Given the description of an element on the screen output the (x, y) to click on. 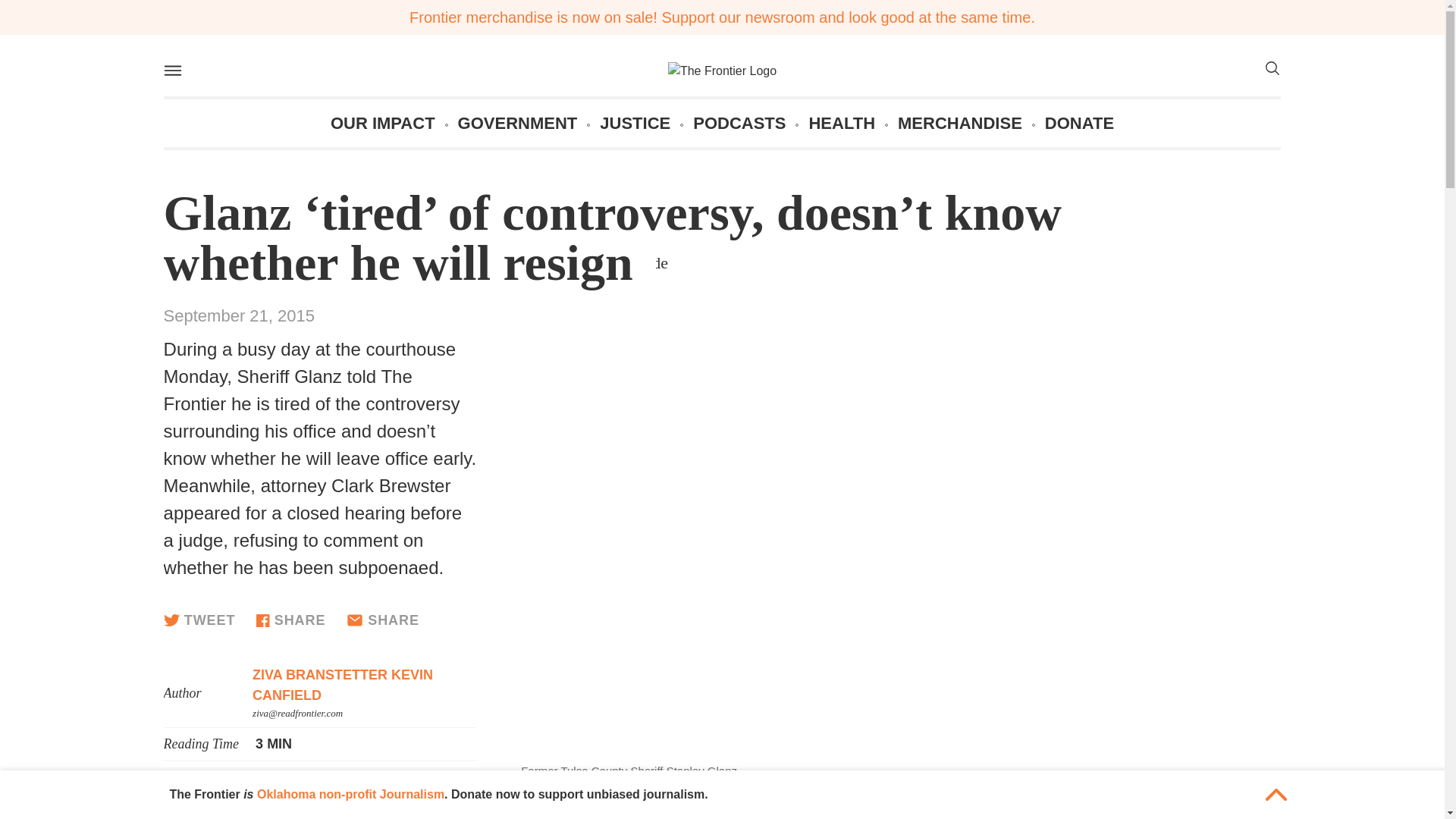
PODCASTS (739, 122)
menu-outline (171, 69)
SEARCH-OUTLINE (1271, 67)
TWEET (199, 620)
MERCHANDISE (960, 122)
JUSTICE (634, 122)
GOVERNMENT (518, 122)
HEALTH (841, 122)
OUR IMPACT (382, 122)
DONATE (1079, 122)
